Given the description of an element on the screen output the (x, y) to click on. 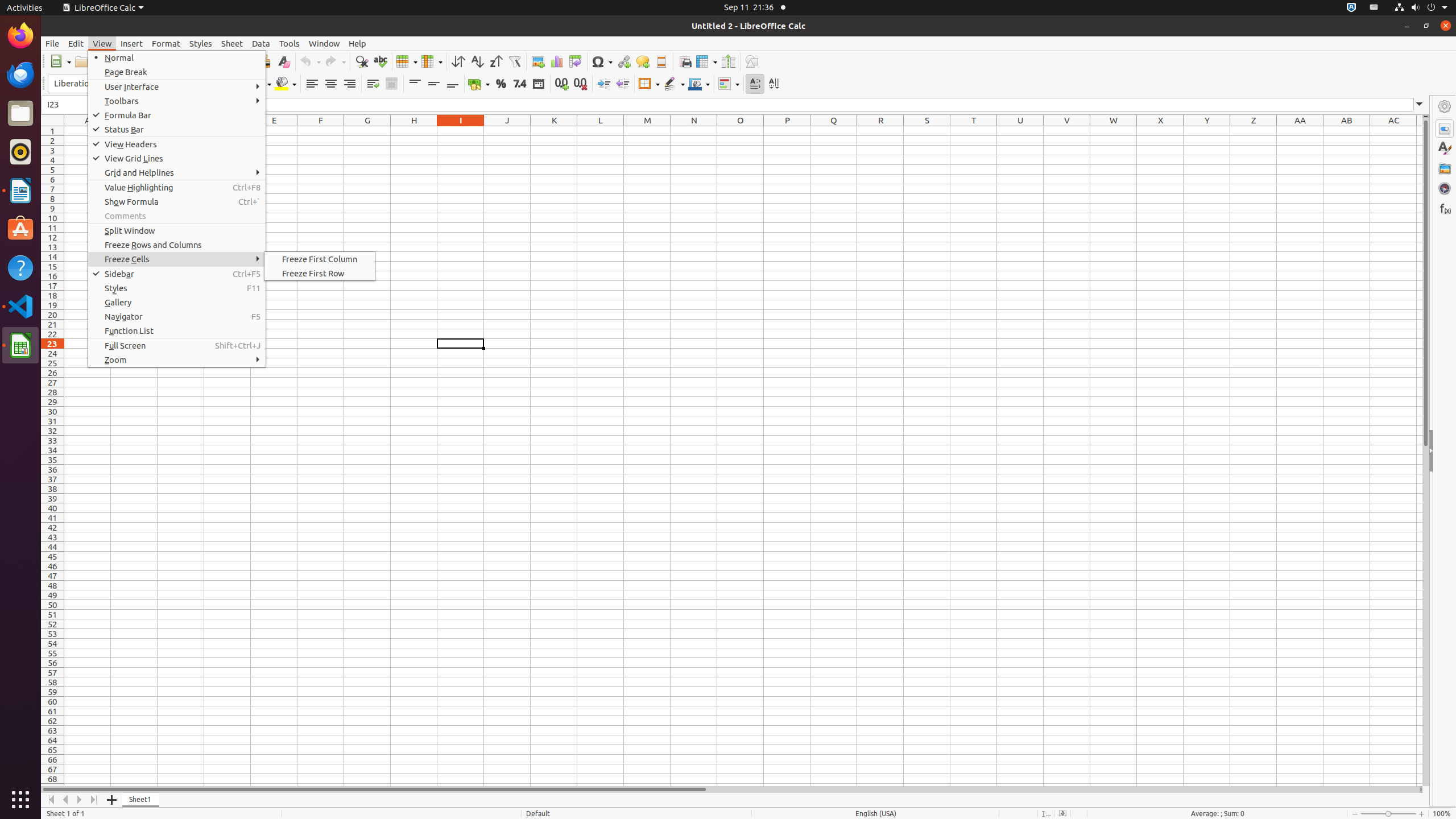
Zoom Element type: menu (176, 359)
Navigator Element type: radio-button (1444, 188)
Print Area Element type: push-button (684, 61)
Add Decimal Place Element type: push-button (561, 83)
